Given the description of an element on the screen output the (x, y) to click on. 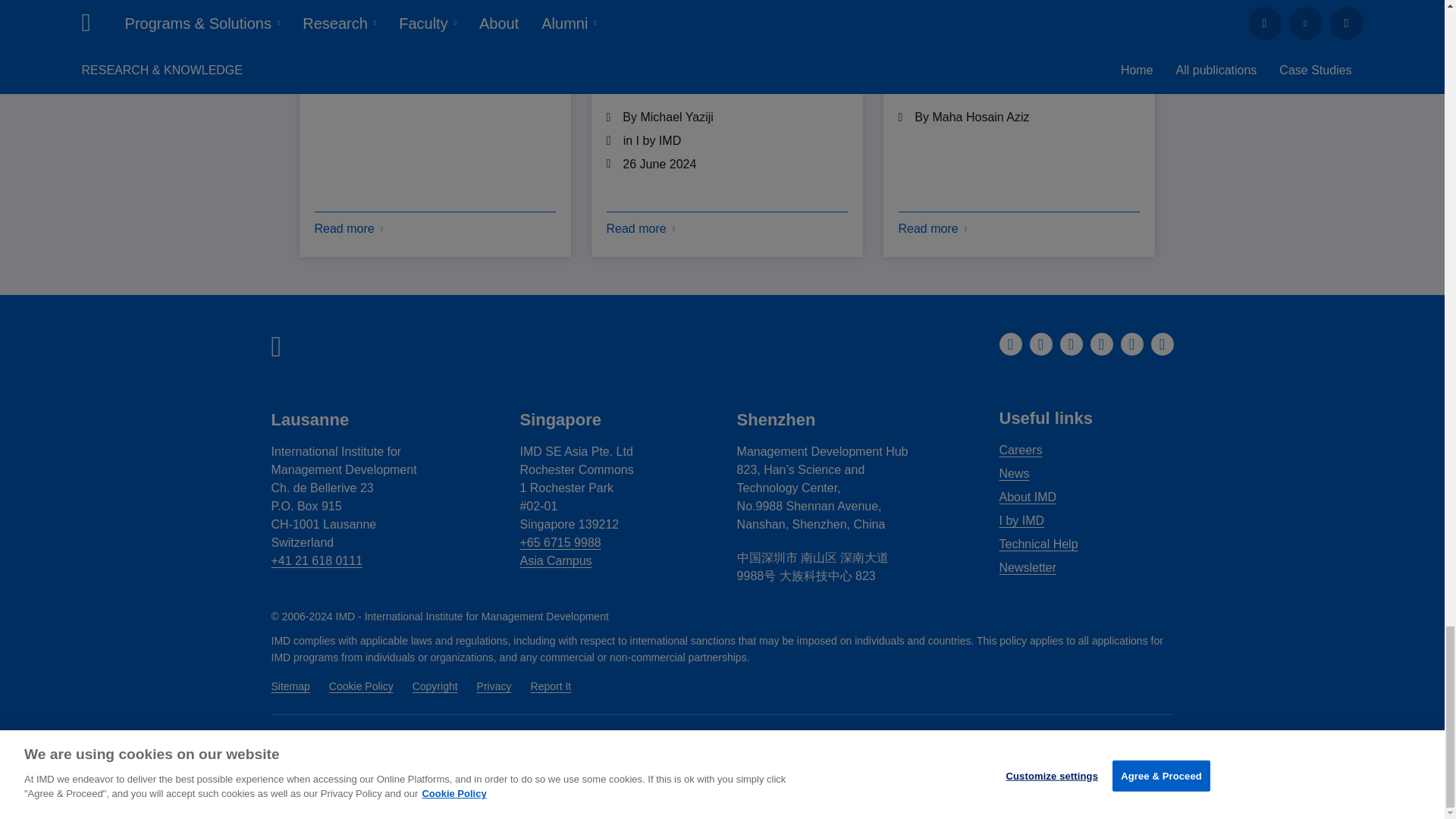
Facebook (1040, 343)
Flickr (1162, 343)
LinkedIn (1010, 343)
Instagram (1071, 343)
YouTube (1131, 343)
Twitter (1101, 343)
